Given the description of an element on the screen output the (x, y) to click on. 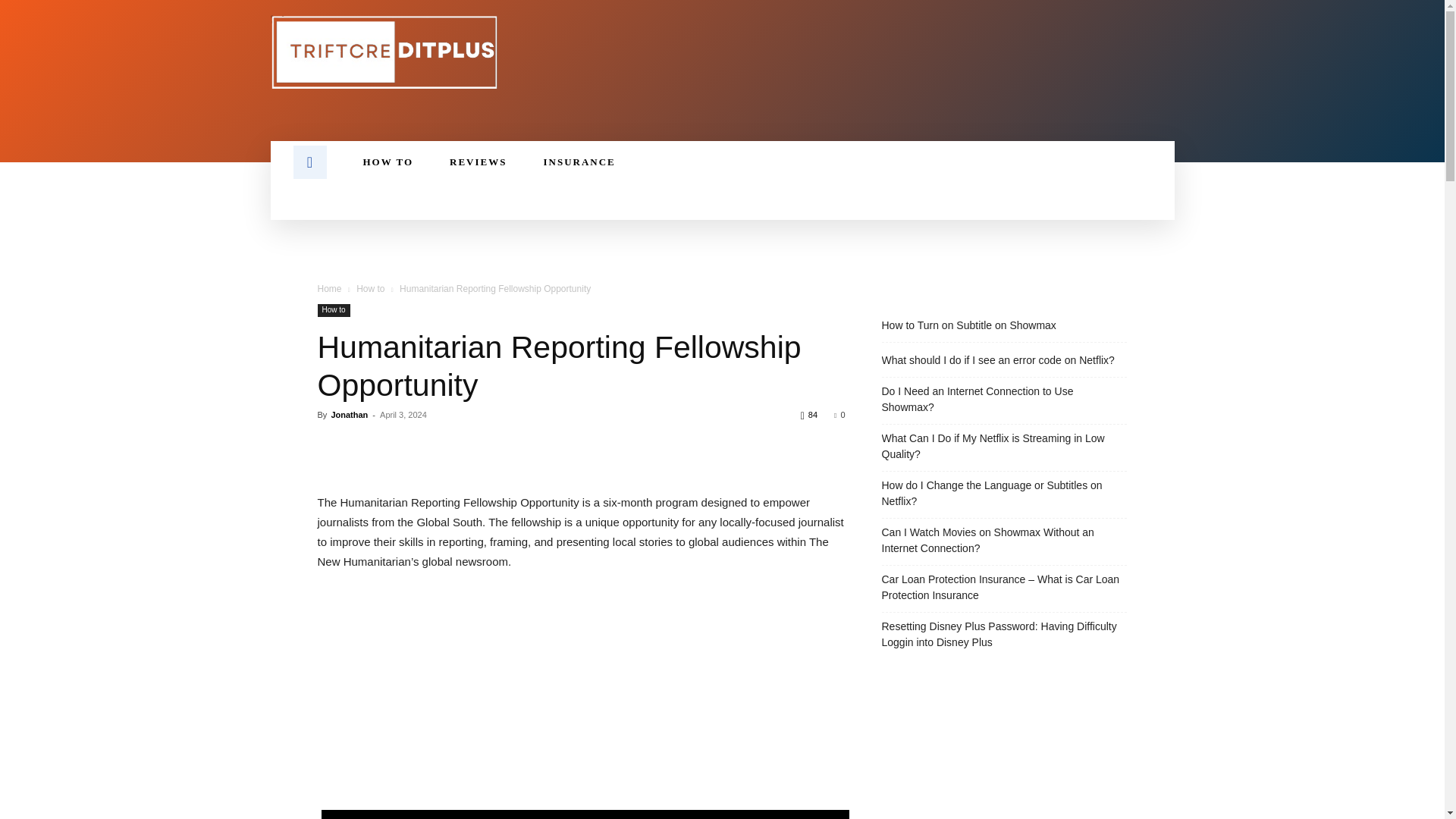
Jonathan (349, 414)
How to (370, 288)
Advertisement (580, 697)
INSURANCE (578, 161)
How to (333, 309)
View all posts in How to (370, 288)
0 (839, 414)
Home (328, 288)
HOW TO (386, 161)
REVIEWS (477, 161)
